Given the description of an element on the screen output the (x, y) to click on. 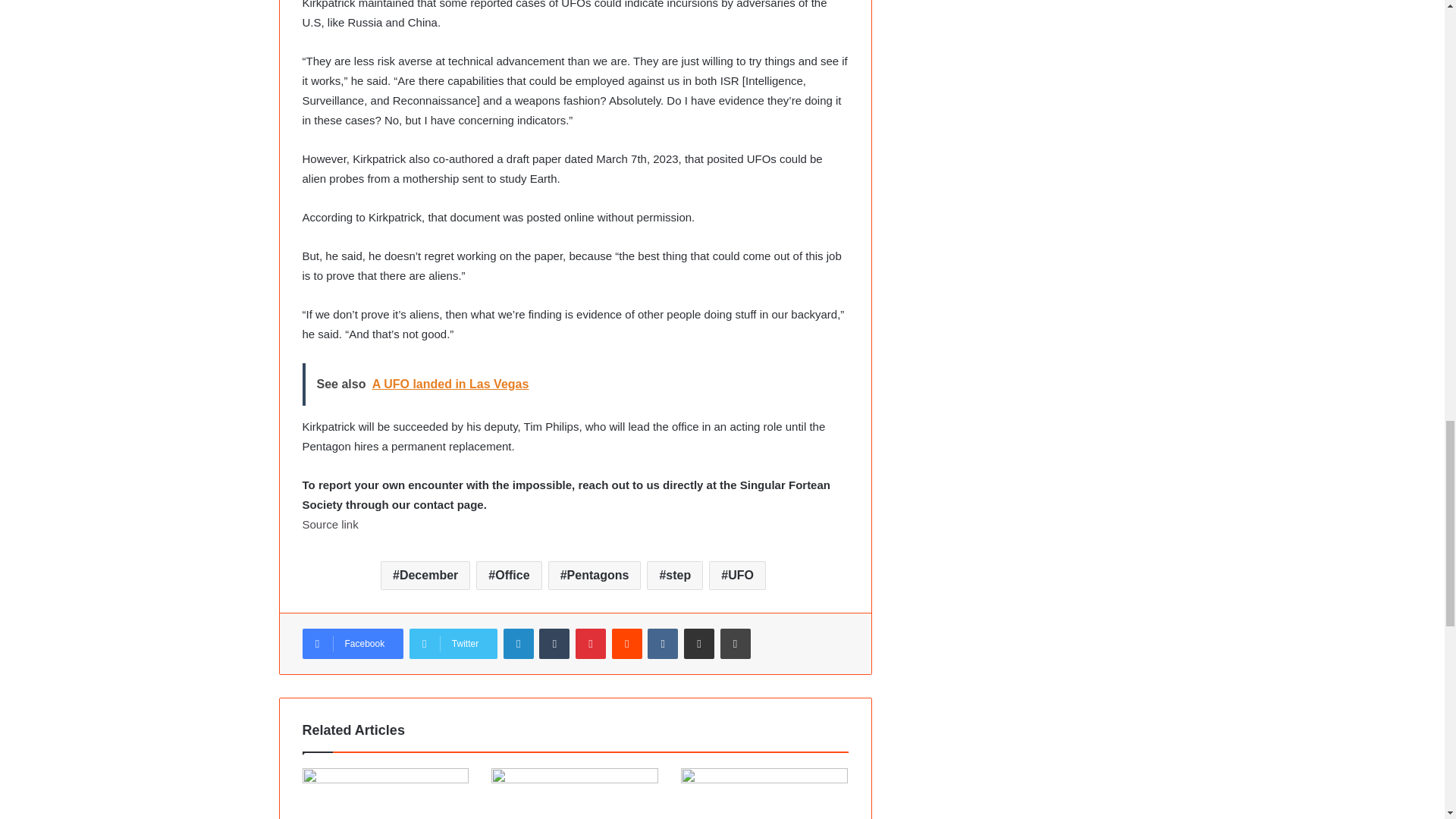
Facebook (352, 643)
UFO (737, 575)
Reddit (626, 643)
Print (735, 643)
Office (508, 575)
Twitter (453, 643)
Share via Email (699, 643)
LinkedIn (518, 643)
Tumblr (553, 643)
Share via Email (699, 643)
Reddit (626, 643)
See also  A UFO landed in Las Vegas (574, 384)
LinkedIn (518, 643)
Twitter (453, 643)
VKontakte (662, 643)
